Given the description of an element on the screen output the (x, y) to click on. 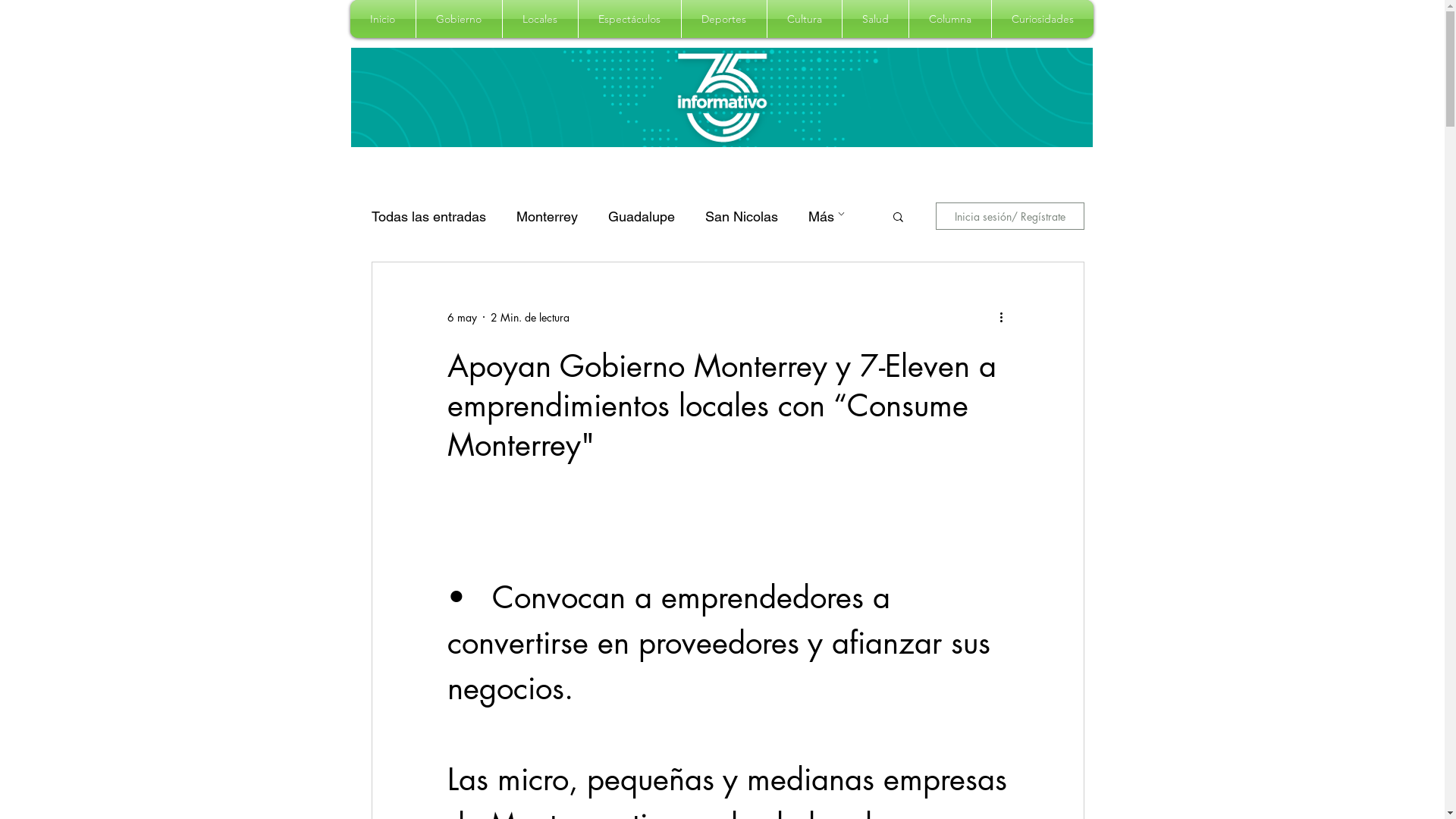
Locales Element type: text (539, 18)
Cultura Element type: text (804, 18)
Salud Element type: text (874, 18)
Columna Element type: text (949, 18)
Apodaca Element type: text (835, 215)
Todas las entradas Element type: text (428, 215)
San Nicolas Element type: text (741, 215)
Guadalupe Element type: text (641, 215)
Inicio Element type: text (382, 18)
Deportes Element type: text (722, 18)
Curiosidades Element type: text (1042, 18)
Monterrey Element type: text (546, 215)
Embedded Content Element type: hover (1011, 161)
